Given the description of an element on the screen output the (x, y) to click on. 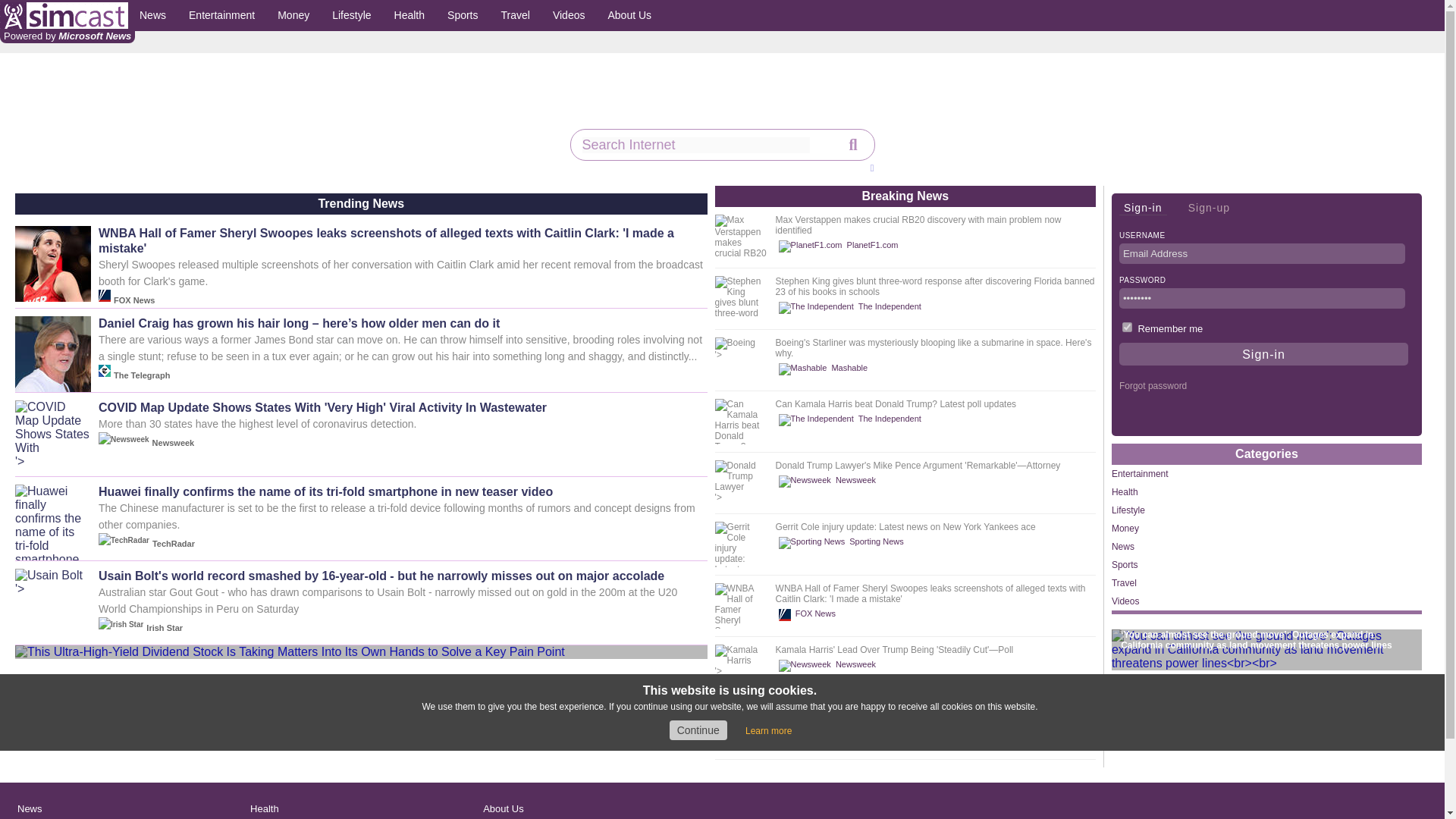
Sports (462, 15)
Health (408, 15)
  Newsweek   (829, 481)
Email Address (1262, 253)
Travel (515, 15)
Videos (568, 15)
  Mashable   (825, 369)
News (152, 15)
